Given the description of an element on the screen output the (x, y) to click on. 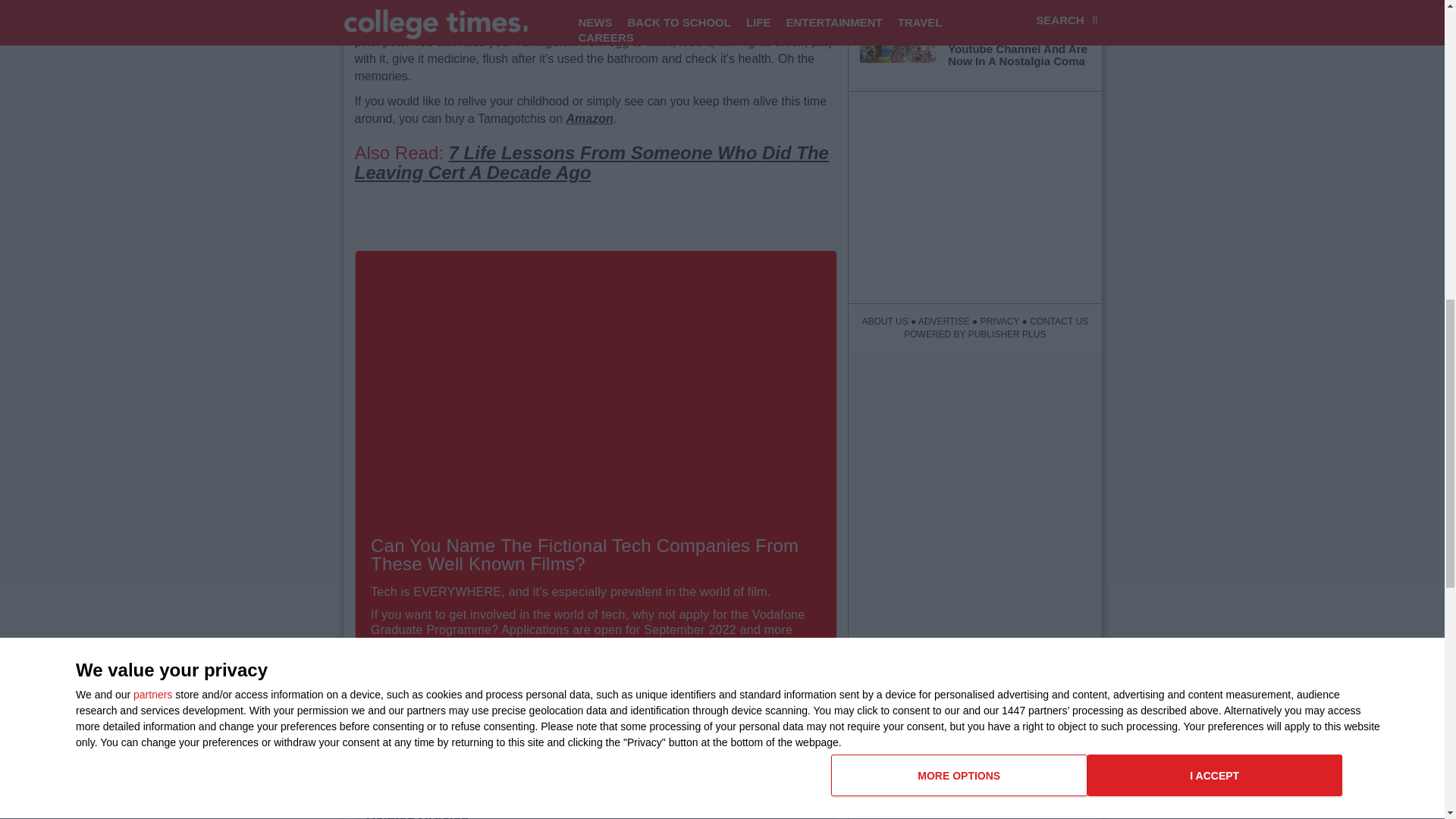
Amazon (589, 118)
